Given the description of an element on the screen output the (x, y) to click on. 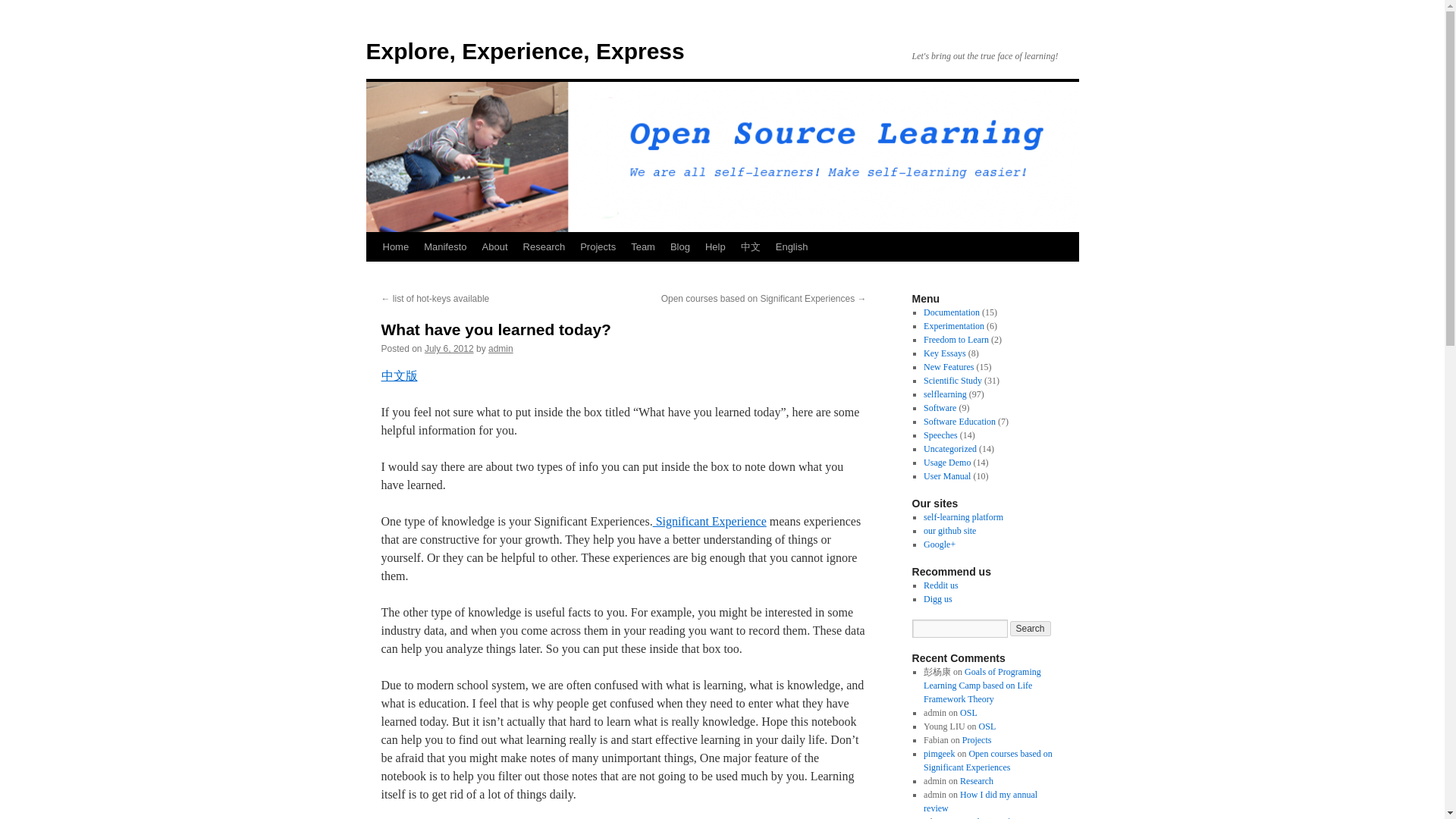
recommend us on reddit.com (940, 584)
Search (1030, 628)
Research (544, 246)
July 6, 2012 (449, 348)
Freedom to Learn (955, 339)
Significant Experience (709, 521)
Documentation (951, 312)
Scientific Study (952, 380)
View all posts by admin (500, 348)
selflearning (944, 394)
